Given the description of an element on the screen output the (x, y) to click on. 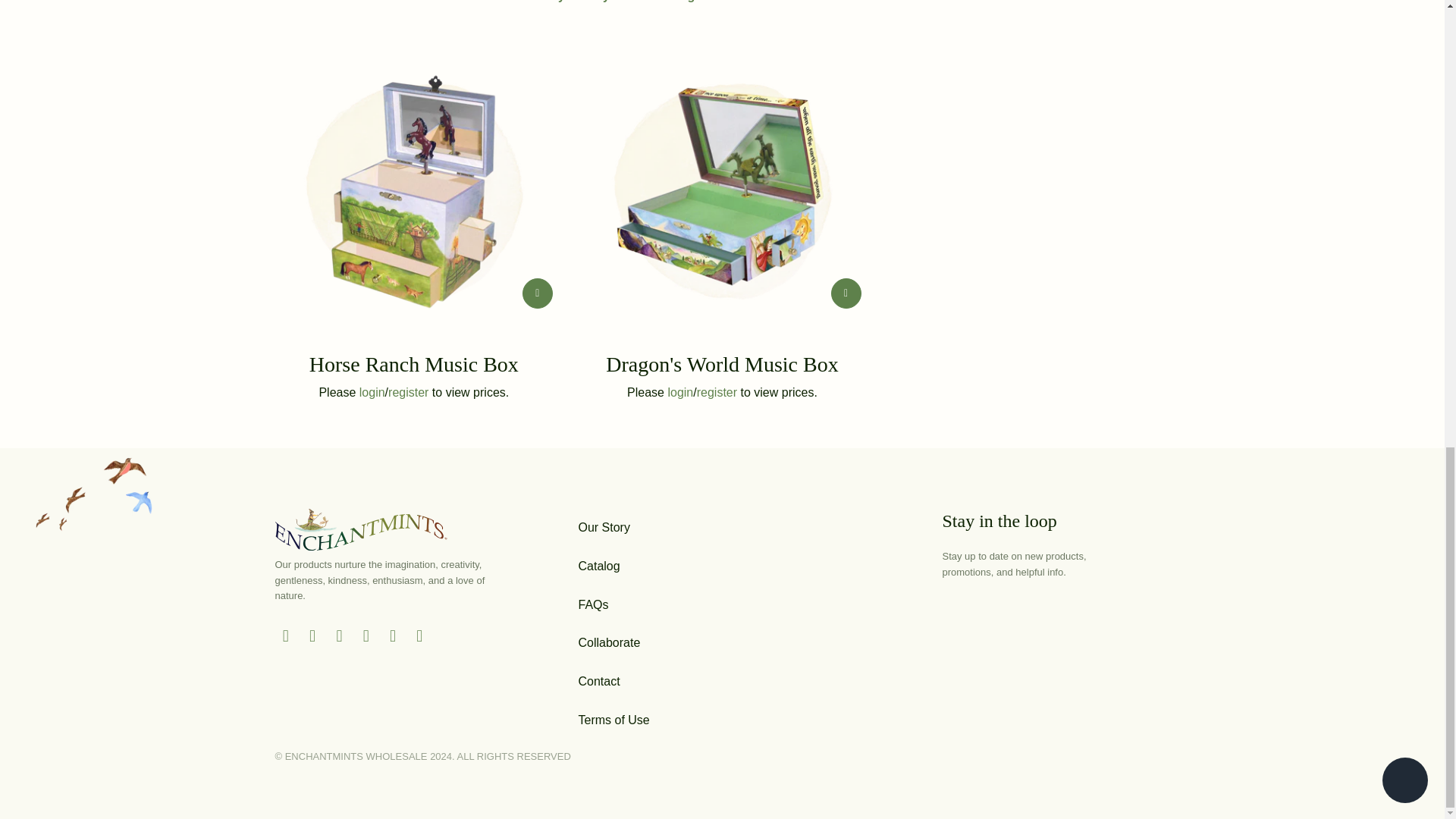
Email Enchantmints Wholesale (419, 636)
Enchantmints Wholesale on Instagram (392, 636)
Enchantmints Wholesale on Twitter (286, 636)
Enchantmints Wholesale on Pinterest (366, 636)
Enchantmints Wholesale on YouTube (339, 636)
Enchantmints Wholesale on Facebook (312, 636)
